Given the description of an element on the screen output the (x, y) to click on. 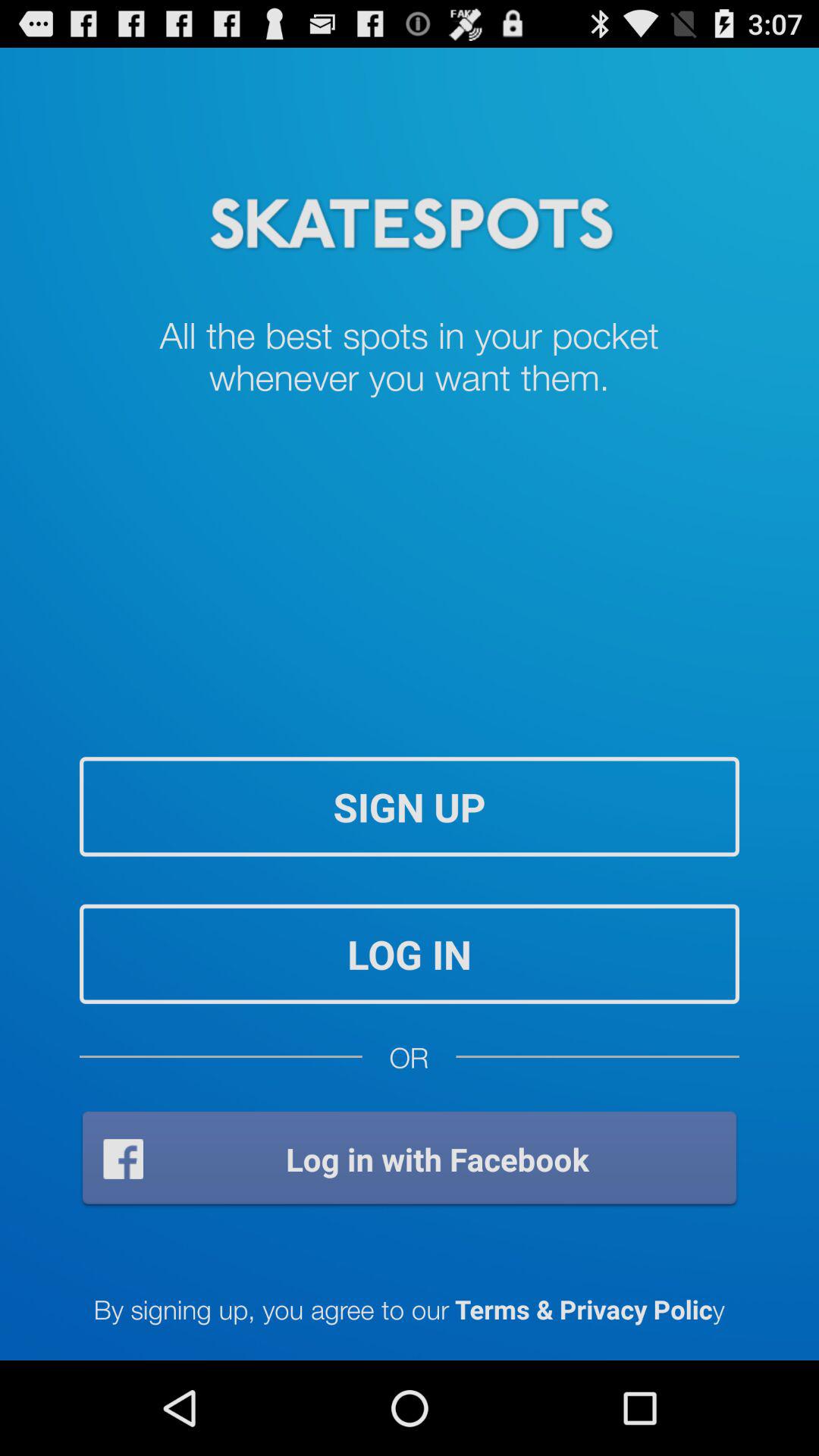
scroll until the by signing up item (408, 1308)
